Given the description of an element on the screen output the (x, y) to click on. 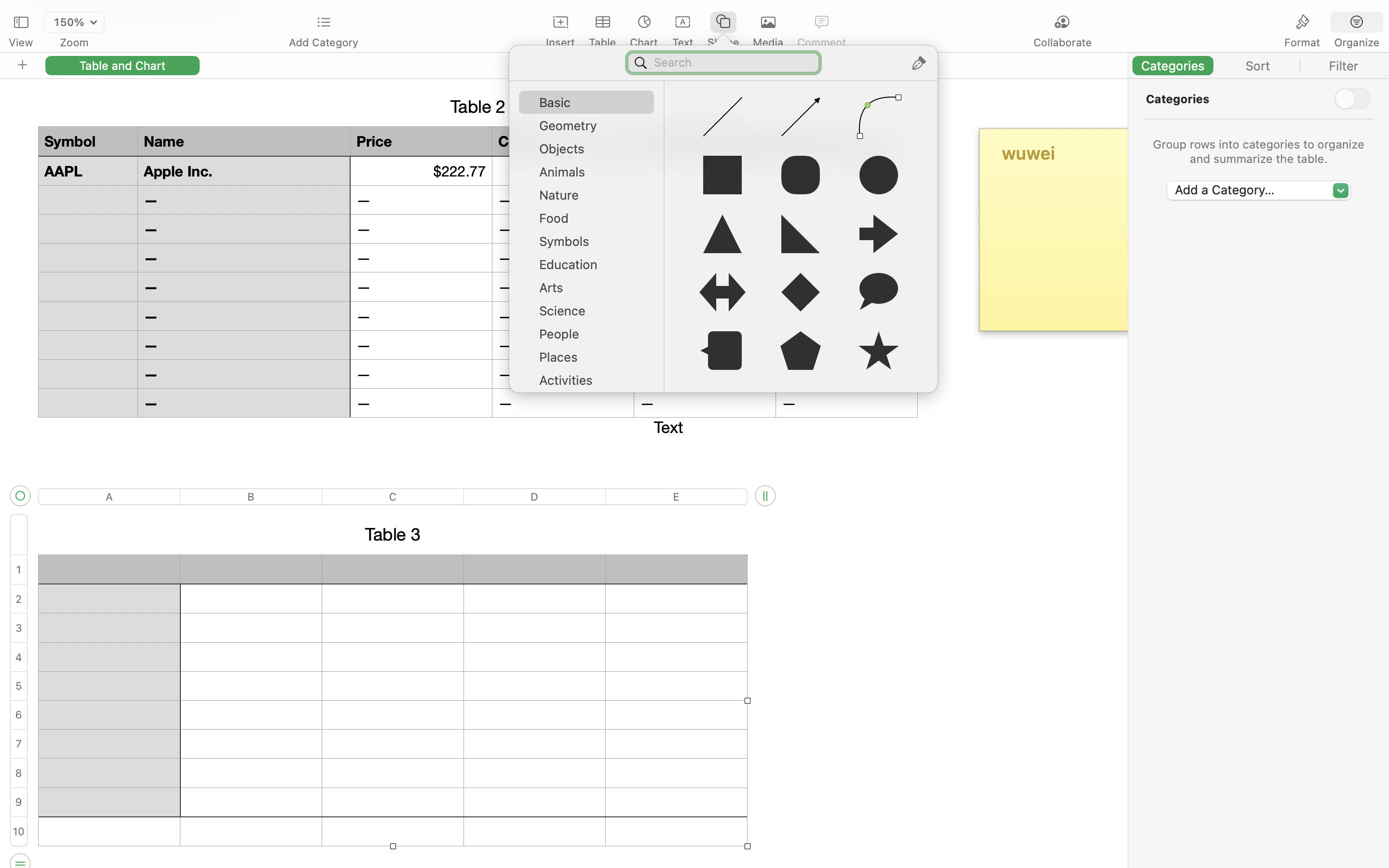
Transportation Element type: AXStaticText (591, 406)
Group rows into categories to organize and summarize the table. Element type: AXStaticText (1258, 150)
Nature Element type: AXStaticText (591, 198)
